Given the description of an element on the screen output the (x, y) to click on. 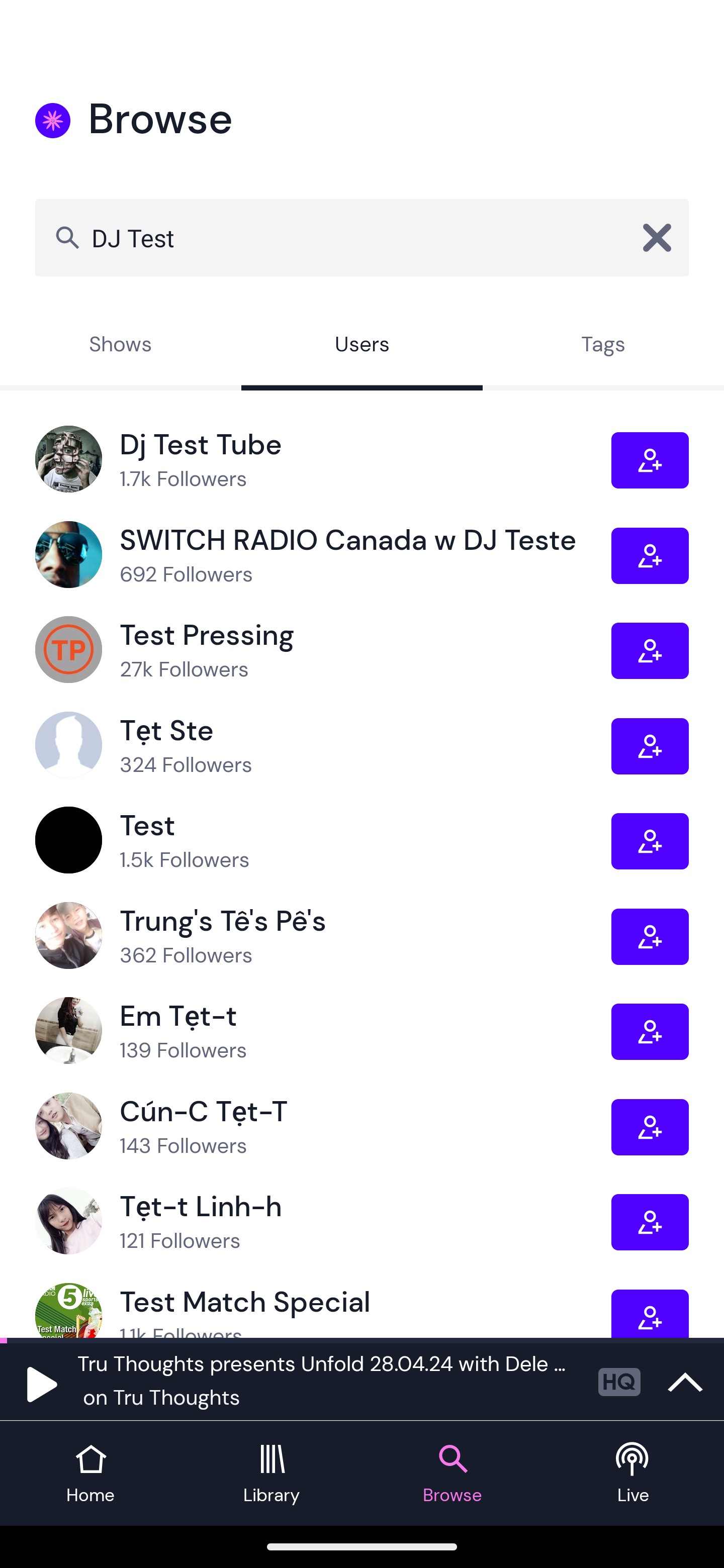
DJ Test (361, 237)
Shows (120, 346)
Users (361, 346)
Tags (603, 346)
Follow (649, 460)
Follow (649, 555)
Follow (649, 650)
Tẹt Ste, 324 Followers Tẹt Ste 324 Followers (323, 745)
Follow (649, 746)
Test, 1.5k Followers Test 1.5k Followers (323, 839)
Follow (649, 840)
Follow (649, 935)
Em Tẹt-t, 139 Followers Em Tẹt-t 139 Followers (323, 1031)
Follow (649, 1031)
Follow (649, 1127)
Follow (649, 1221)
Follow (649, 1312)
Home tab Home (90, 1473)
Library tab Library (271, 1473)
Browse tab Browse (452, 1473)
Live tab Live (633, 1473)
